Given the description of an element on the screen output the (x, y) to click on. 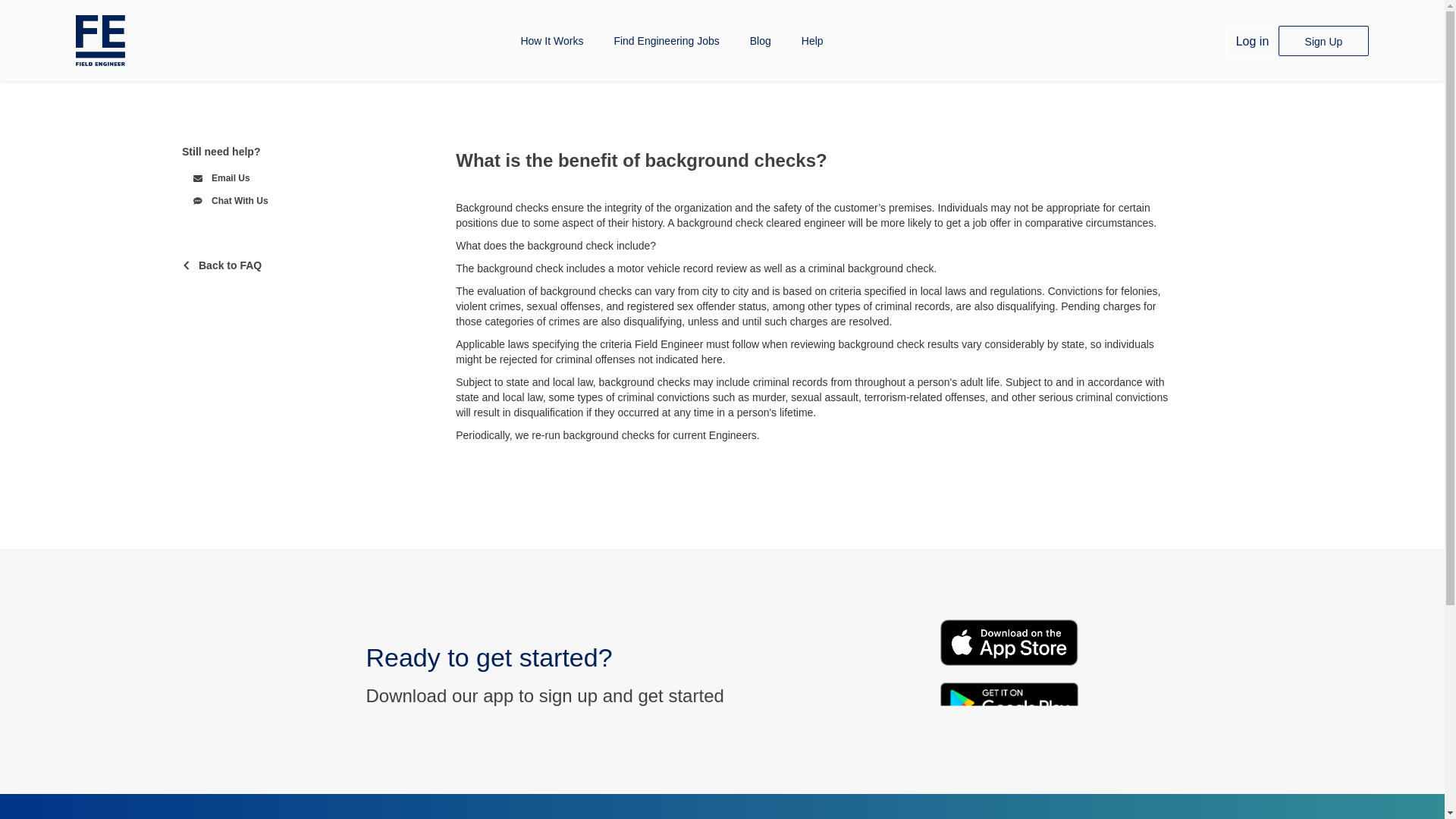
Blog (760, 40)
How It Works (551, 40)
Sign Up (1323, 40)
Chat With Us (317, 200)
Help (812, 40)
Back to FAQ (311, 264)
Log in (1251, 40)
Email Us (317, 177)
Find Engineering Jobs (665, 40)
